Given the description of an element on the screen output the (x, y) to click on. 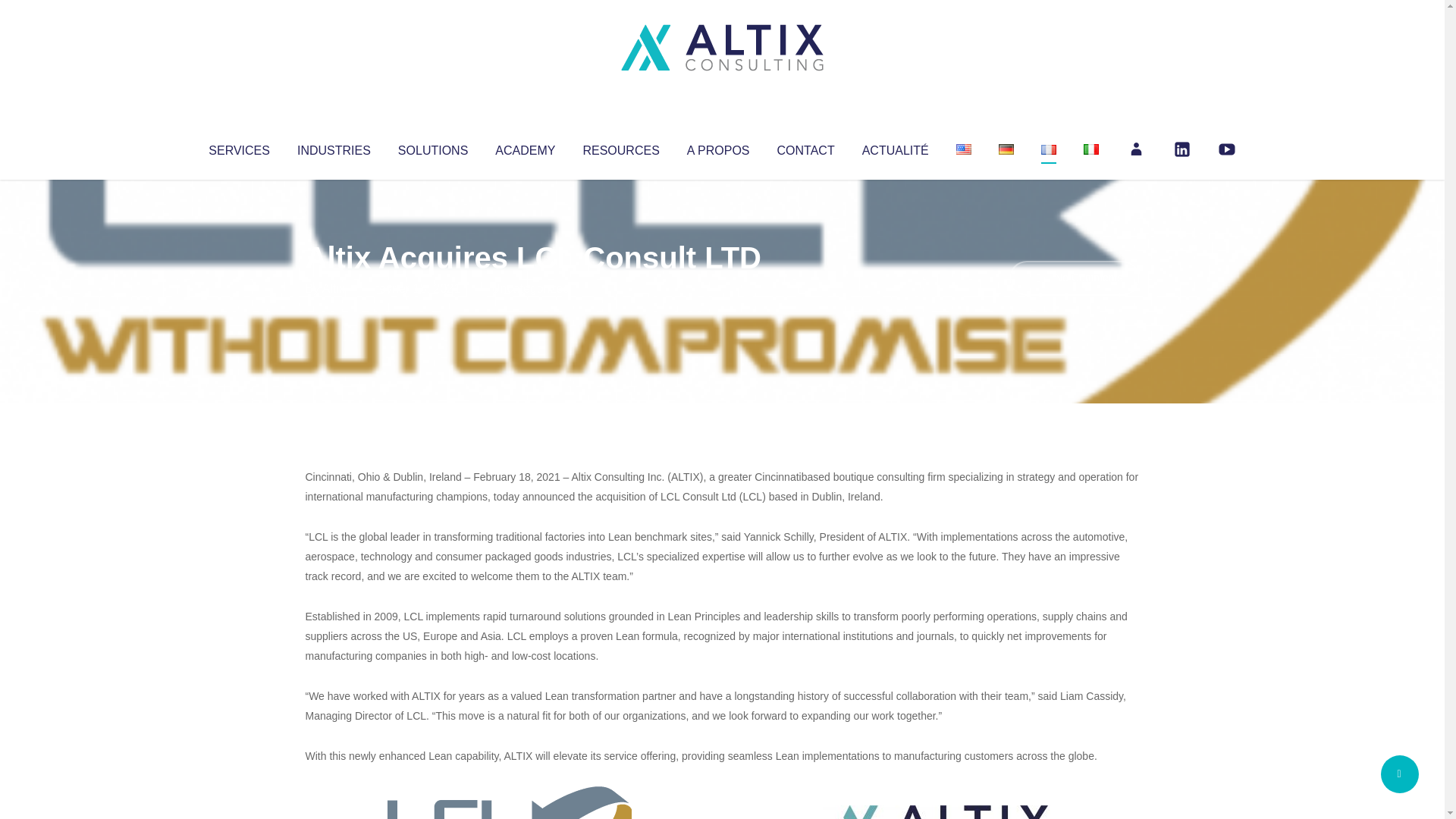
SOLUTIONS (432, 146)
A PROPOS (718, 146)
RESOURCES (620, 146)
ACADEMY (524, 146)
No Comments (1073, 278)
Articles par Altix (333, 287)
SERVICES (238, 146)
Uncategorized (530, 287)
INDUSTRIES (334, 146)
Altix (333, 287)
